Given the description of an element on the screen output the (x, y) to click on. 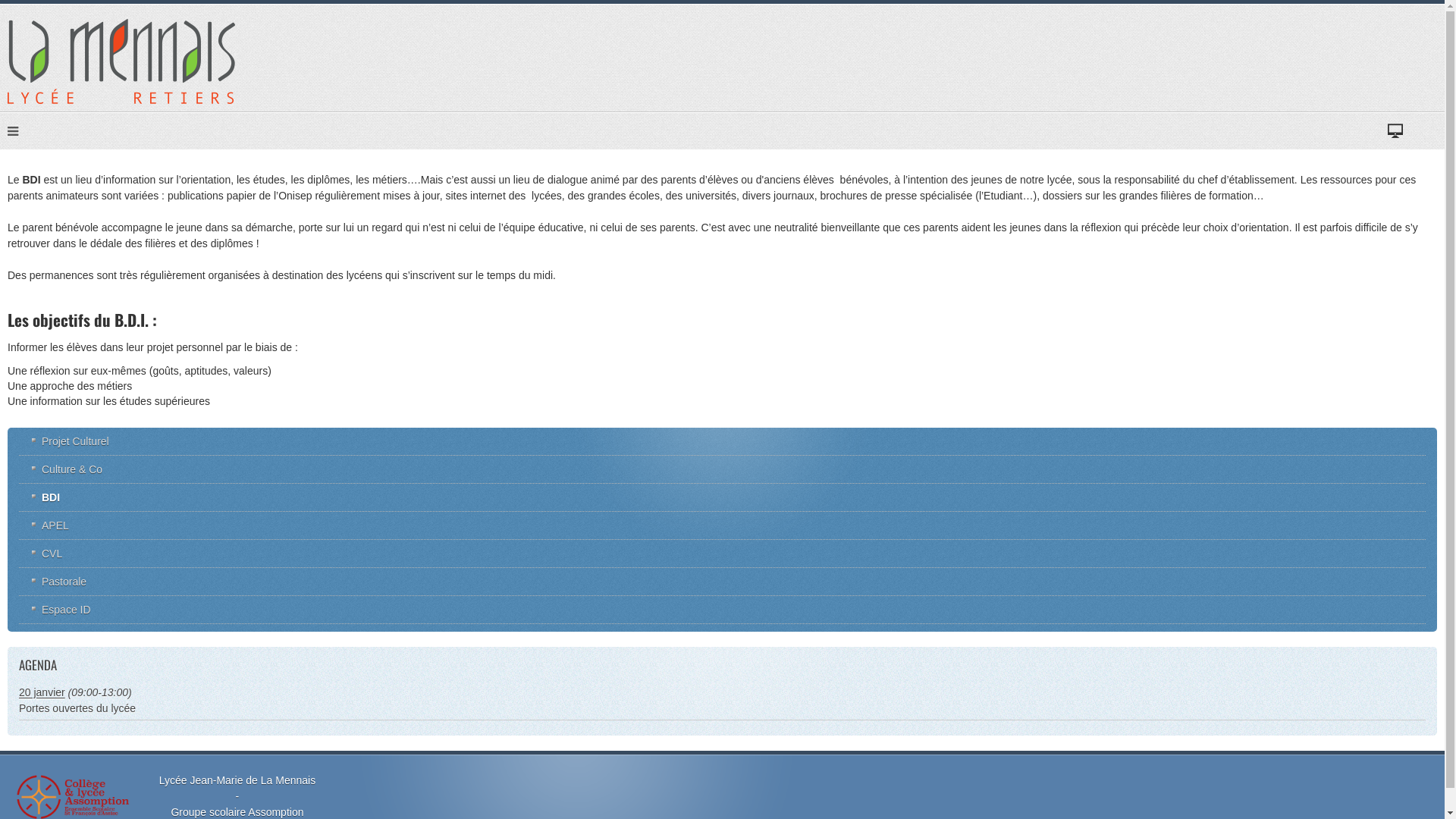
Culture & Co Element type: text (721, 468)
BDI Element type: text (721, 497)
Pastorale Element type: text (721, 580)
CVL Element type: text (721, 553)
toujours plus haut Element type: hover (121, 60)
Espace ID Element type: text (721, 609)
APEL Element type: text (721, 524)
Projet Culturel Element type: text (721, 441)
